Given the description of an element on the screen output the (x, y) to click on. 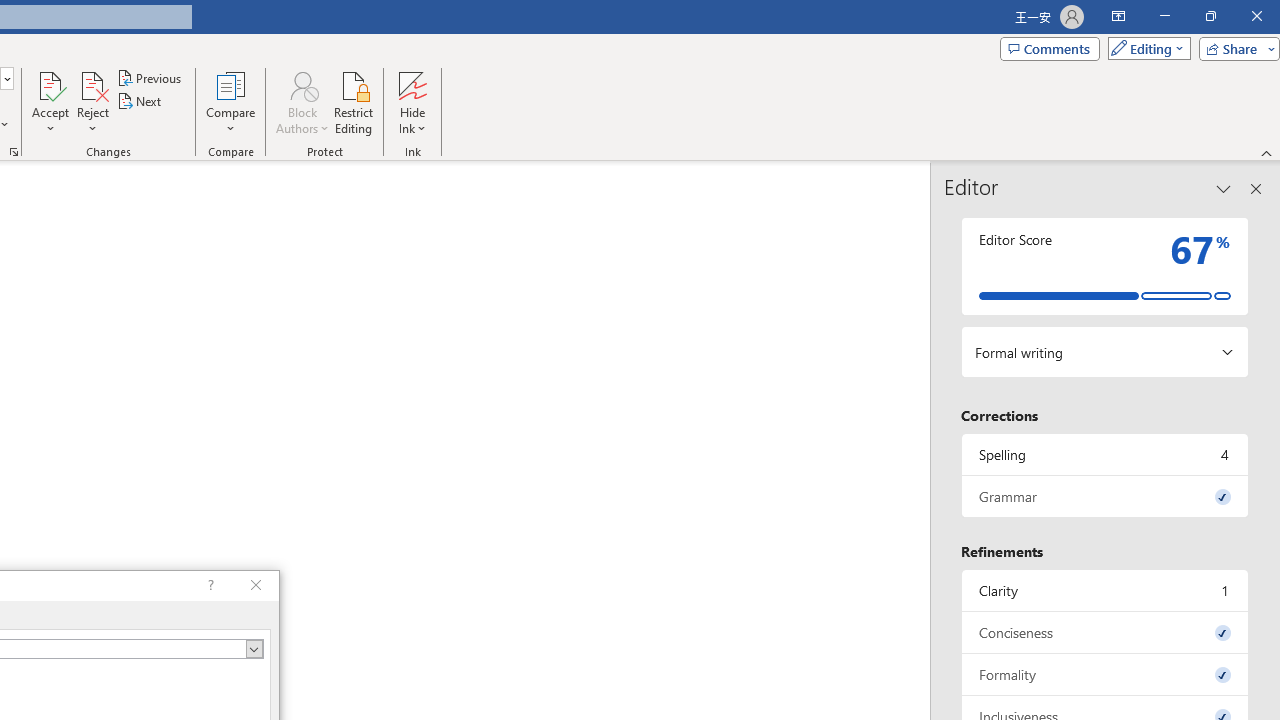
Hide Ink (412, 102)
Next (140, 101)
Compare (230, 102)
Reject and Move to Next (92, 84)
Spelling, 4 issues. Press space or enter to review items. (1105, 454)
Block Authors (302, 102)
Clarity, 1 issue. Press space or enter to review items. (1105, 590)
Formality, 0 issues. Press space or enter to review items. (1105, 673)
Accept and Move to Next (50, 84)
Editor Score 67% (1105, 266)
